Given the description of an element on the screen output the (x, y) to click on. 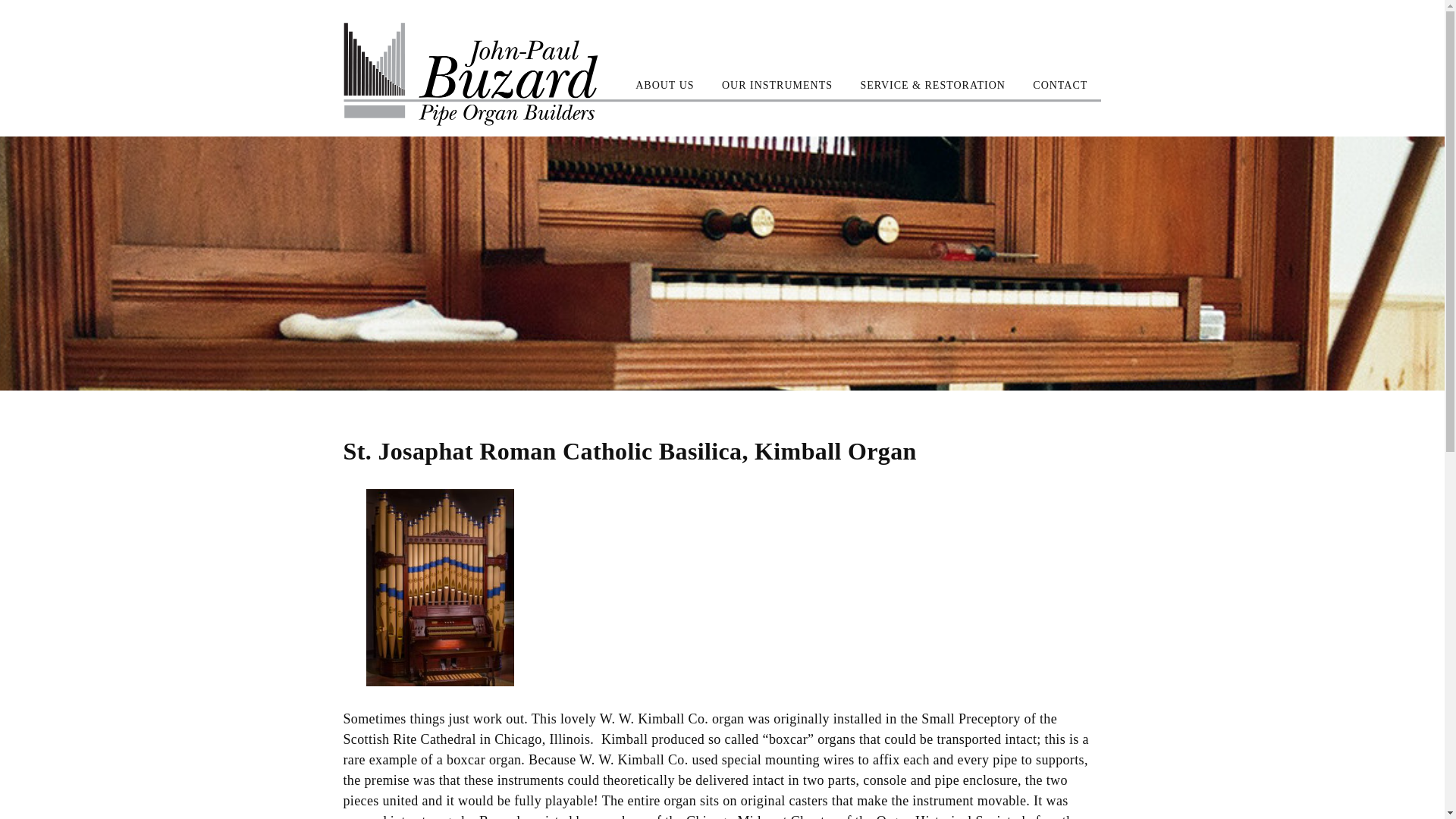
CONTACT (1059, 85)
ABOUT US (664, 85)
OUR INSTRUMENTS (776, 85)
